Given the description of an element on the screen output the (x, y) to click on. 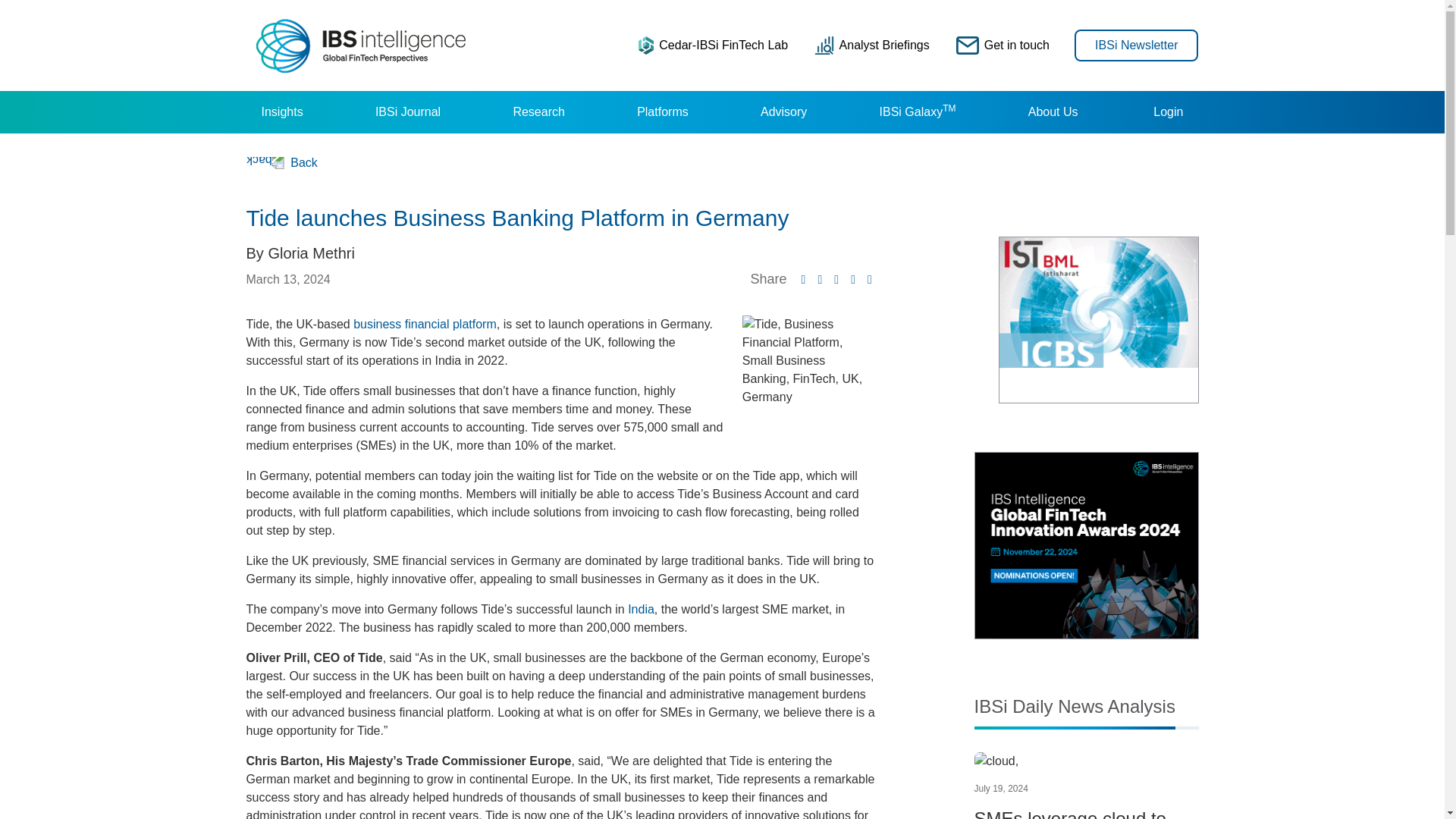
Research (538, 111)
IBSi Journal (407, 111)
Analyst Briefings (871, 45)
Get in touch (1002, 45)
Insights (281, 111)
Cedar-IBSi FinTech Lab (712, 45)
IBSi Newsletter (1136, 44)
